Given the description of an element on the screen output the (x, y) to click on. 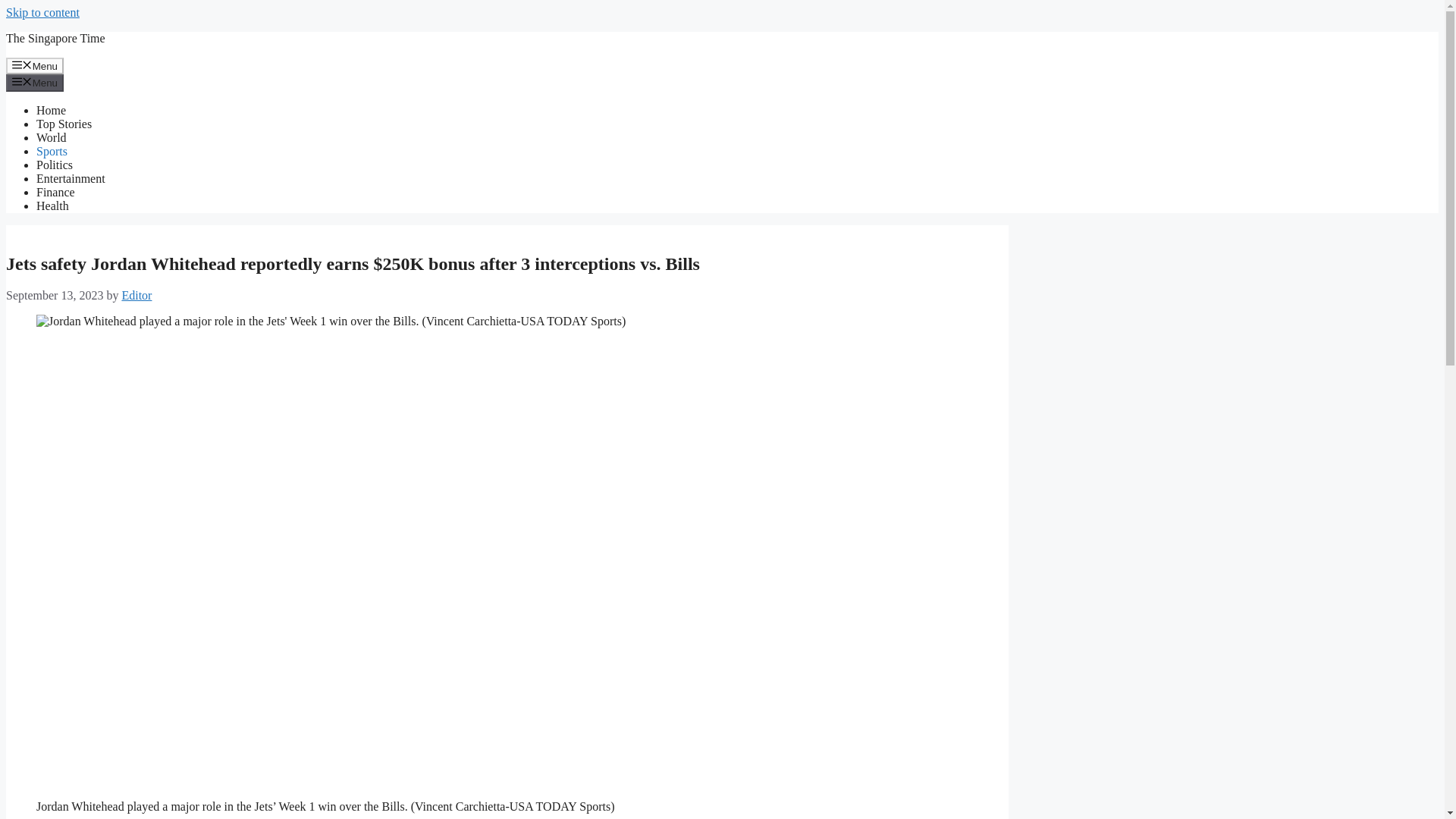
Sports (51, 151)
World (51, 137)
Editor (135, 295)
Top Stories (63, 123)
Skip to content (42, 11)
Health (52, 205)
Finance (55, 192)
Entertainment (70, 178)
Politics (54, 164)
Skip to content (42, 11)
View all posts by Editor (135, 295)
Home (50, 110)
Menu (34, 82)
The Singapore Time (54, 38)
Menu (34, 65)
